Given the description of an element on the screen output the (x, y) to click on. 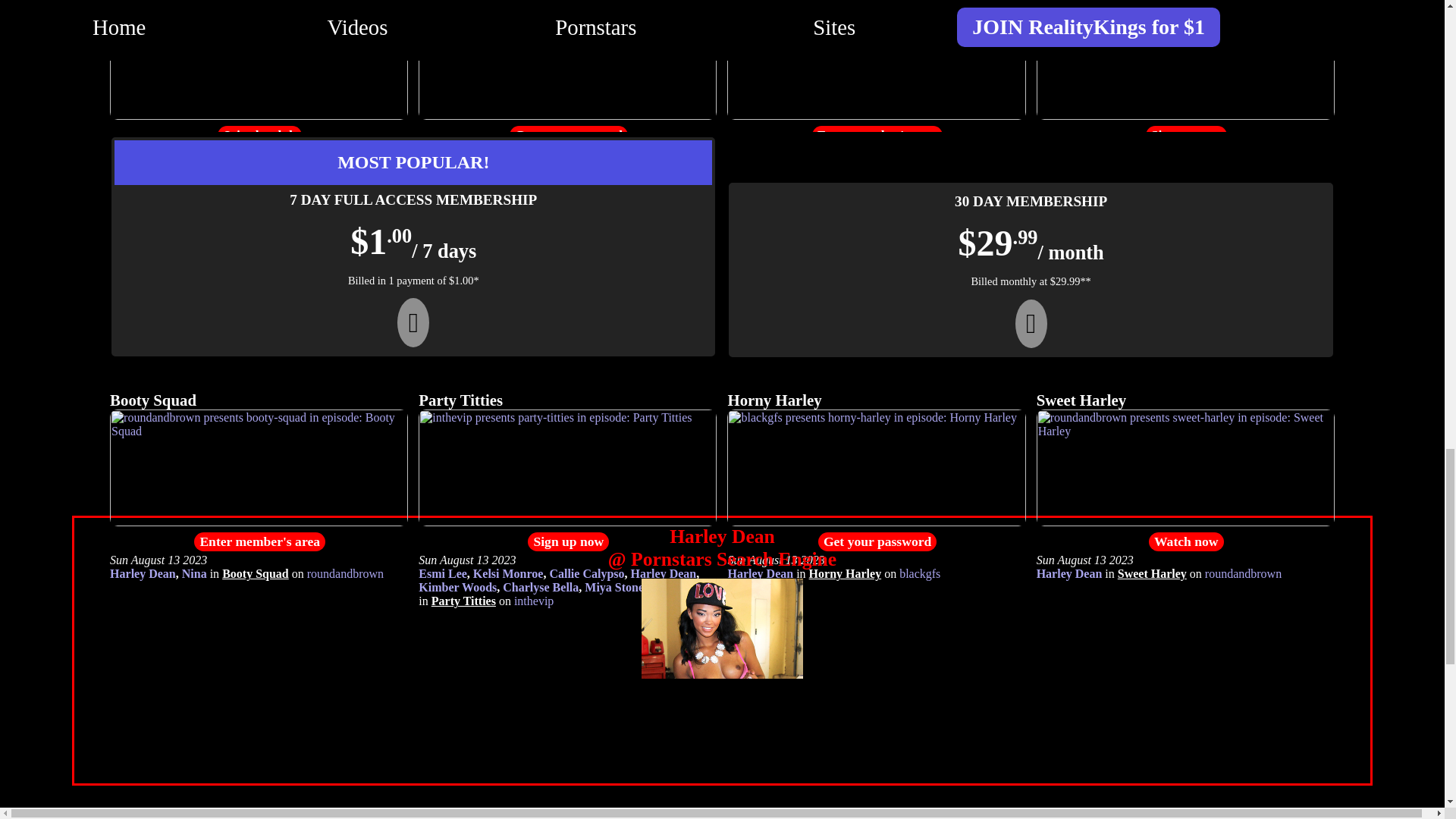
roundandbrown presents bite-me in episode: Bite Me (1200, 166)
sneakysex (443, 48)
Harley Dean (759, 34)
roundandbrown presents booty-squad in episode: Booty Squad (258, 521)
Harley Dean (451, 34)
roundandbrown presents booty-squad in episode: Booty Squad (255, 573)
inthevip presents party-titties in episode: Party Titties (463, 600)
inthevip presents naked-party in episode: Naked Party (875, 115)
